Given the description of an element on the screen output the (x, y) to click on. 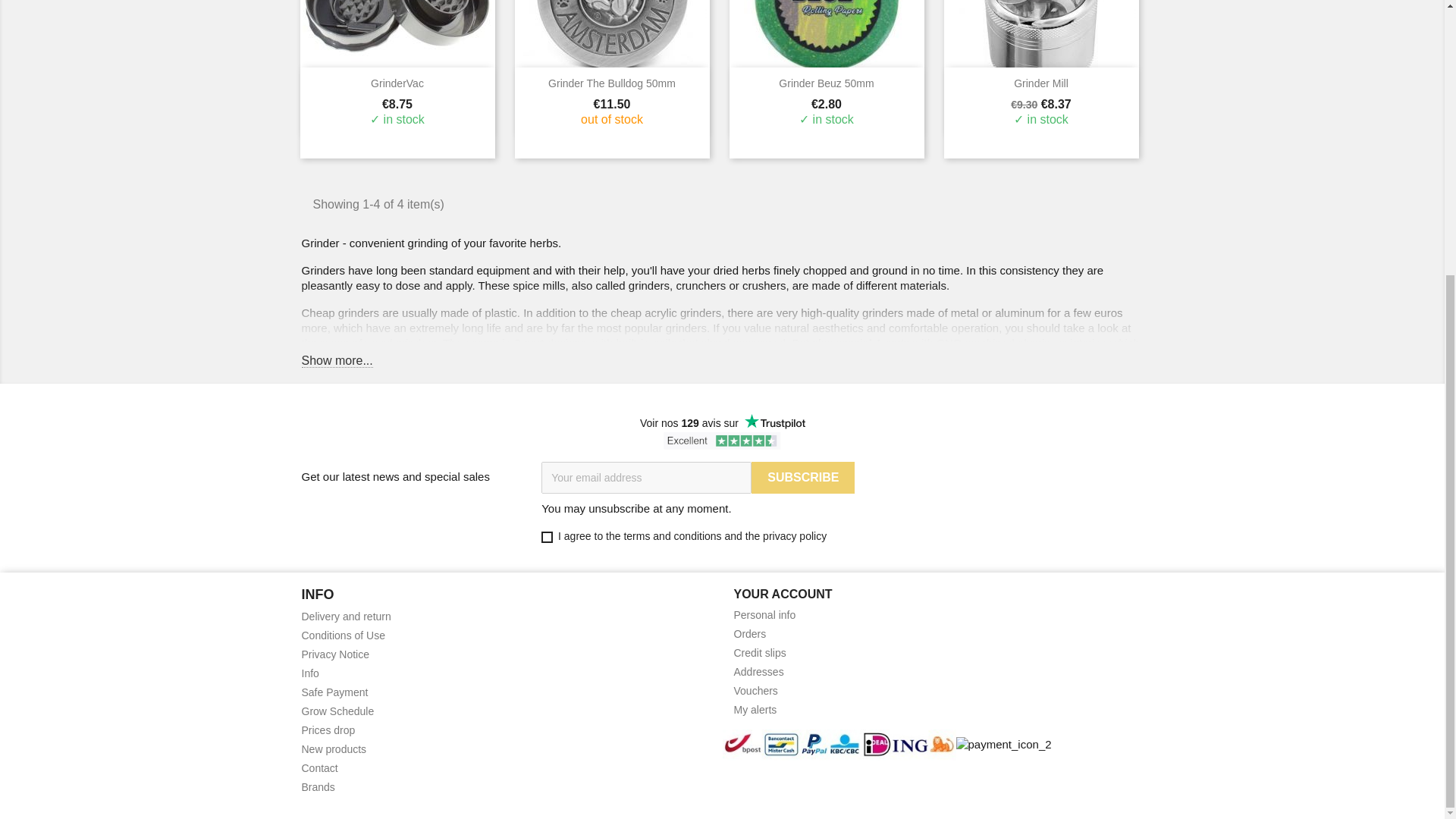
My alerts (755, 709)
Subscribe (802, 477)
Plant and Flower uses Google Dynamic Remarketing. (335, 654)
Orders (750, 633)
Personal info (764, 614)
Credit slips (759, 653)
Vouchers (755, 690)
Our special products (328, 729)
Our new products (333, 748)
Addresses (758, 671)
Customer reviews powered by Trustpilot (721, 423)
